Given the description of an element on the screen output the (x, y) to click on. 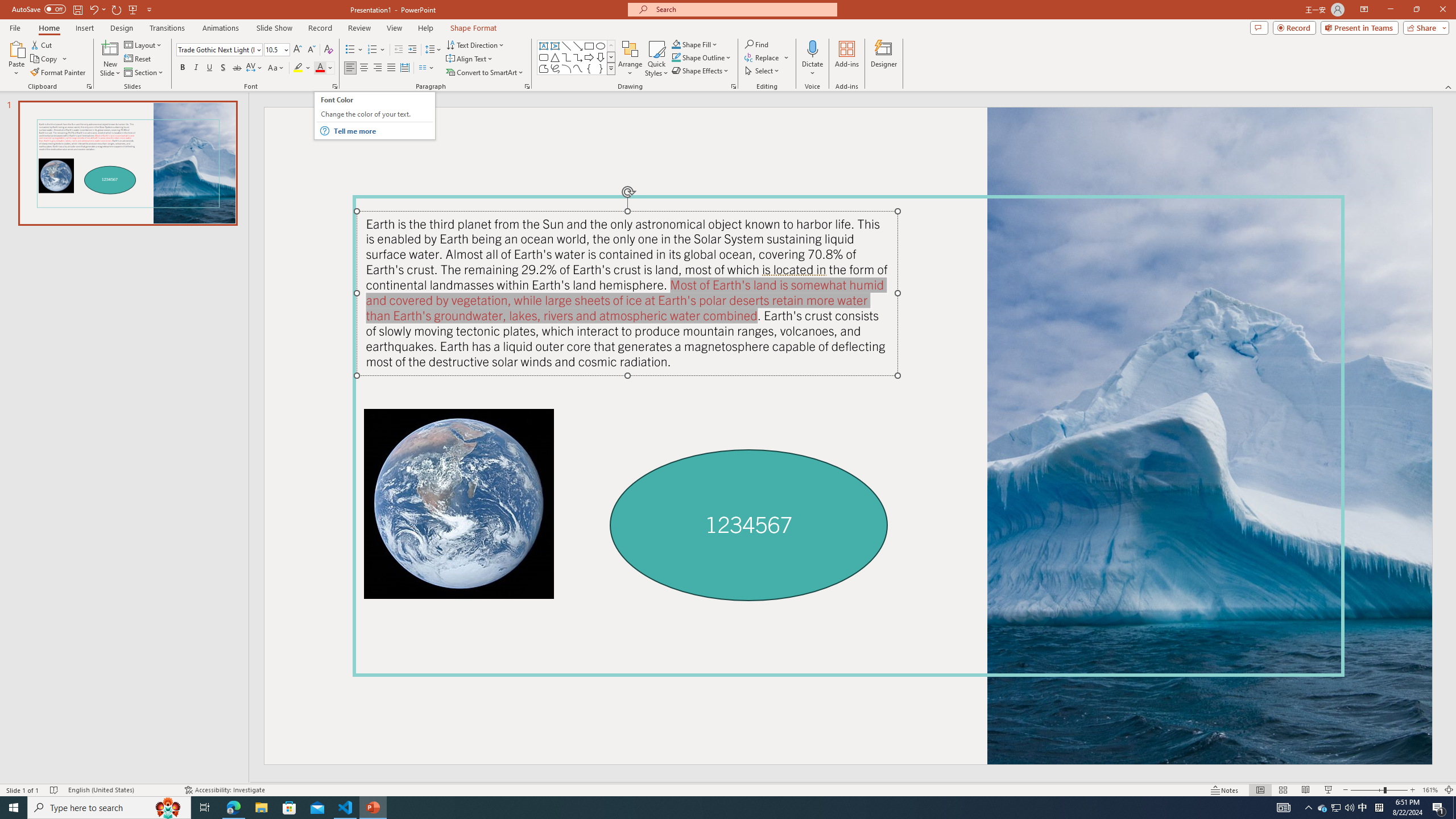
Zoom 161% (1430, 790)
